Given the description of an element on the screen output the (x, y) to click on. 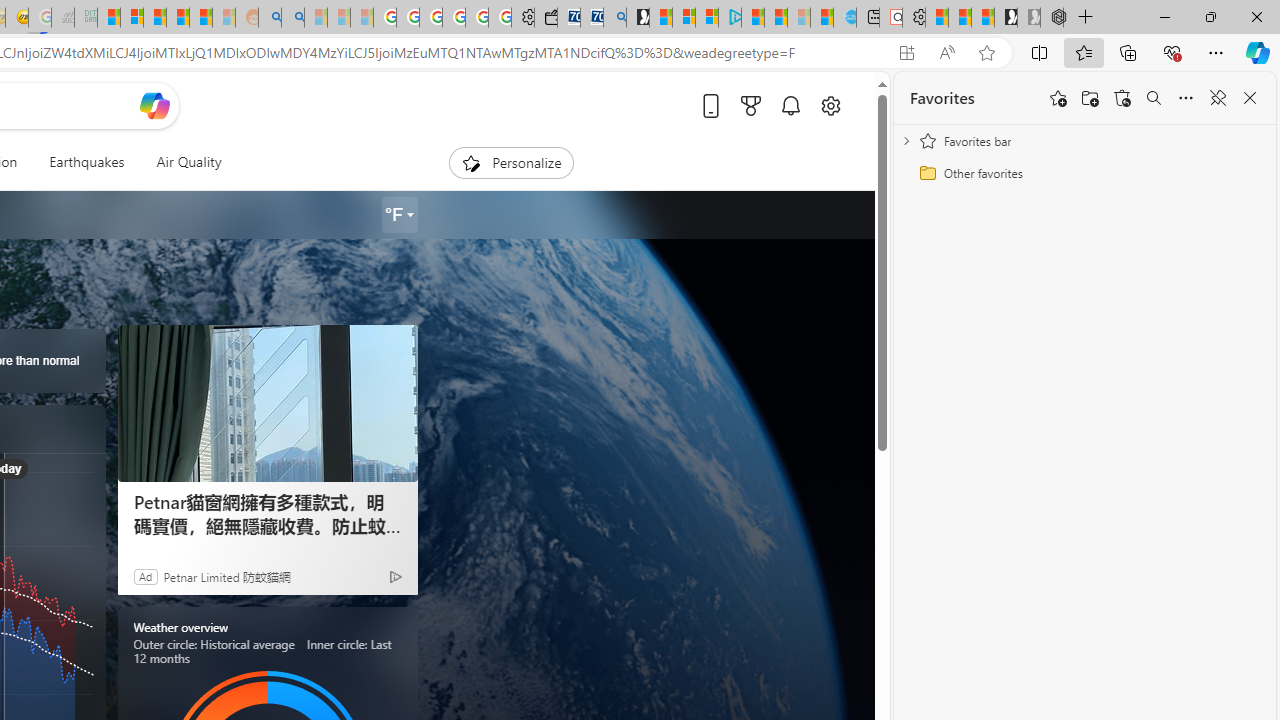
Restore deleted favorites (1122, 98)
Close favorites (1250, 98)
Add folder (1089, 98)
